Given the description of an element on the screen output the (x, y) to click on. 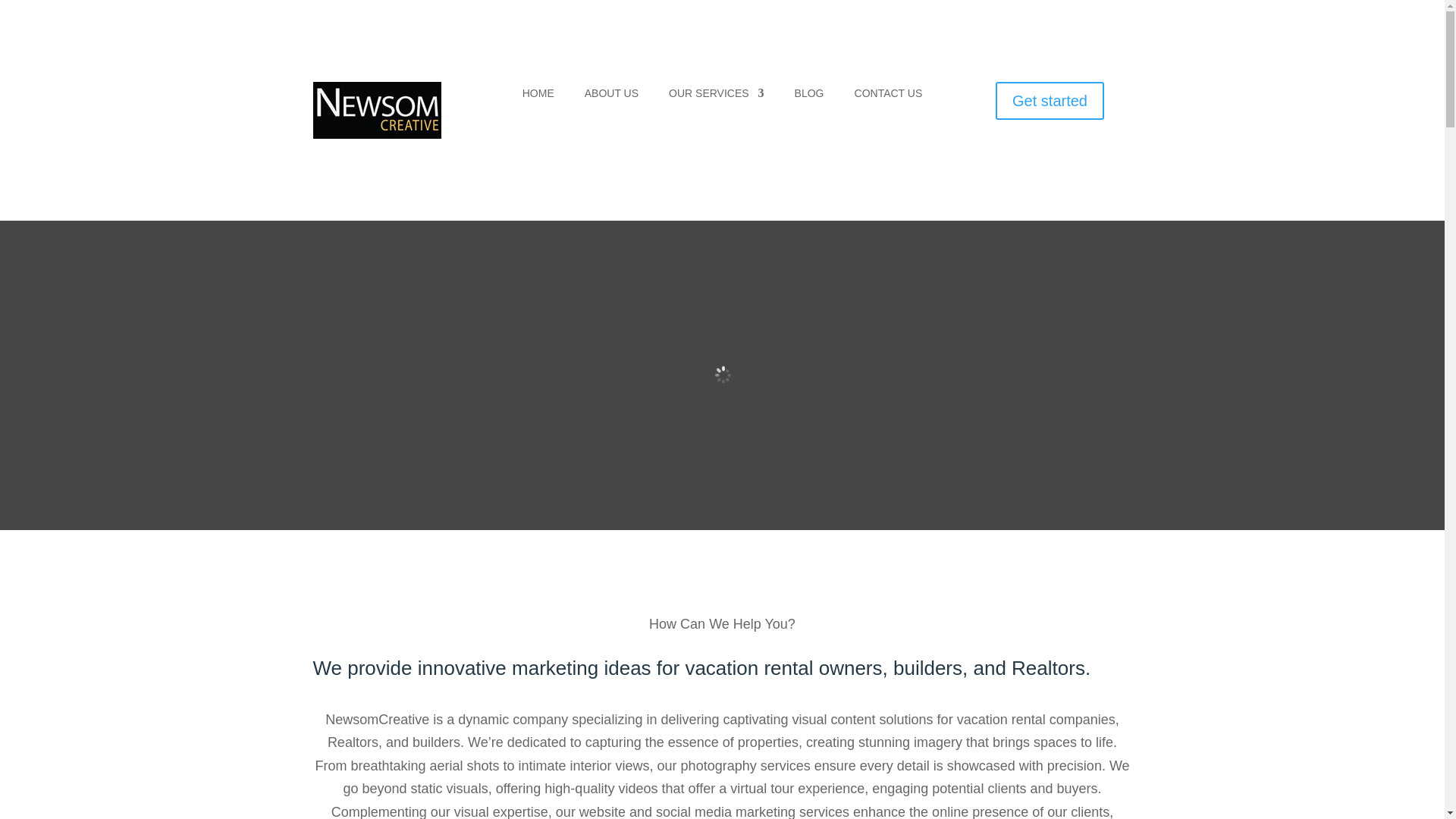
CONTACT US (888, 95)
HOME (538, 95)
BLOG (809, 95)
Get started (1049, 100)
ABOUT US (612, 95)
OUR SERVICES (716, 95)
nc-logo-hdr-169x75 (377, 109)
